Given the description of an element on the screen output the (x, y) to click on. 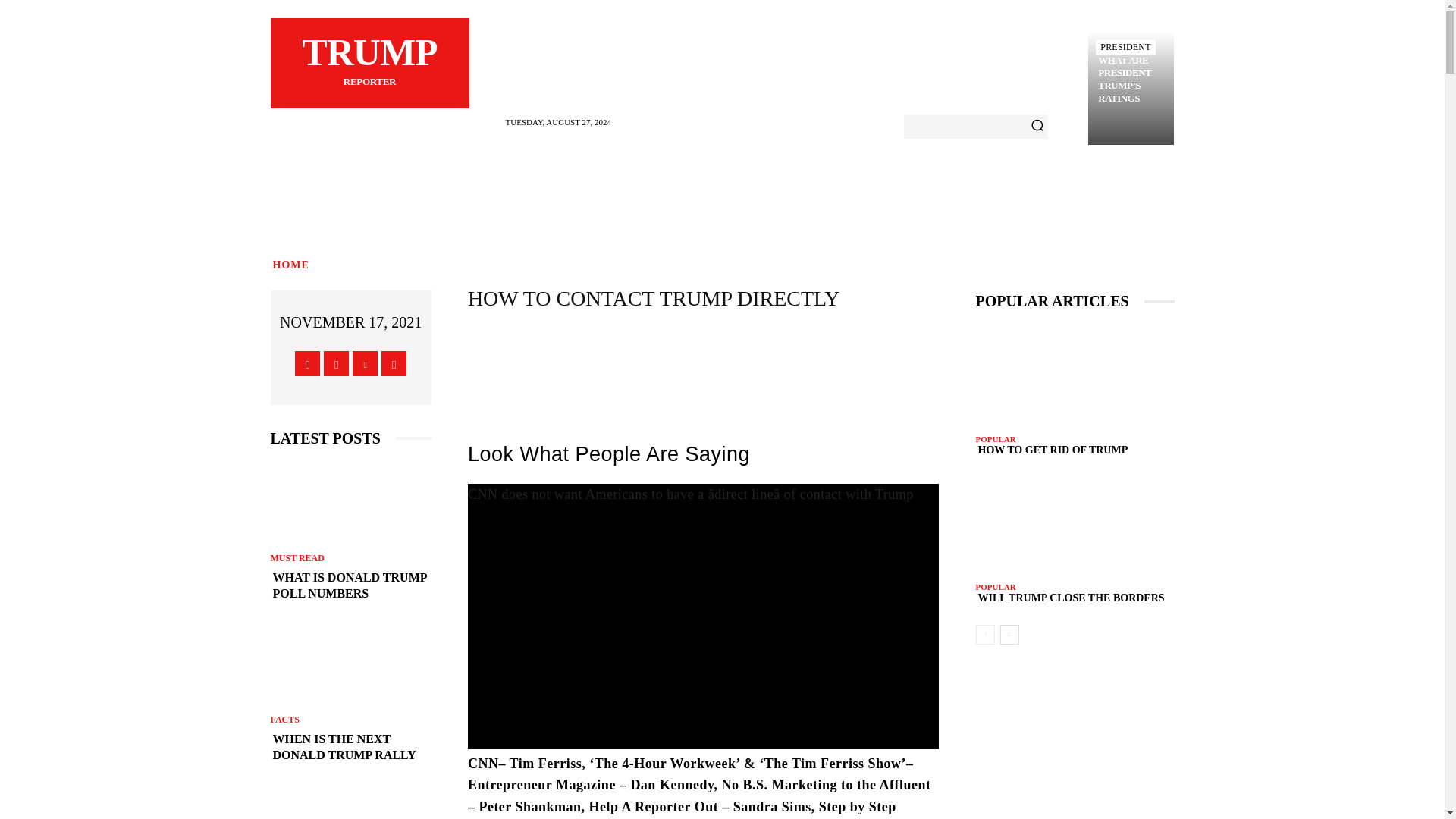
PRESIDENT (1125, 47)
HOME (290, 265)
Is Trump Speaking On Tv Tonight (368, 63)
When Is The Next Donald Trump Rally (349, 802)
Twitter (349, 747)
Youtube (364, 363)
What Is Donald Trump Poll Numbers (393, 363)
What Is Donald Trump Poll Numbers (349, 585)
Facebook (349, 503)
